Given the description of an element on the screen output the (x, y) to click on. 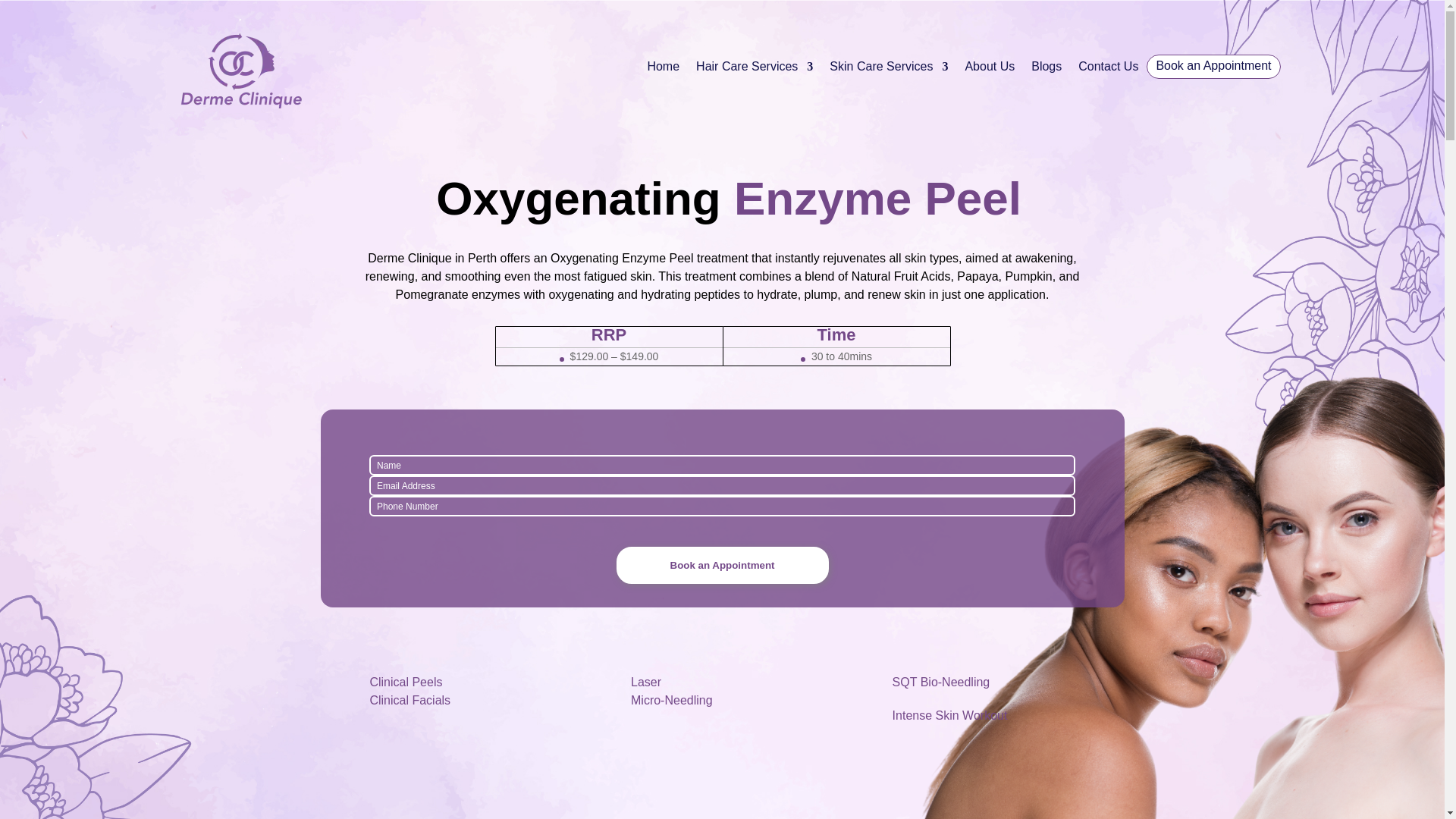
logo (239, 68)
Skin Care Services (888, 69)
Home (662, 69)
Book an Appointment (721, 565)
Hair Care Services (753, 69)
